Given the description of an element on the screen output the (x, y) to click on. 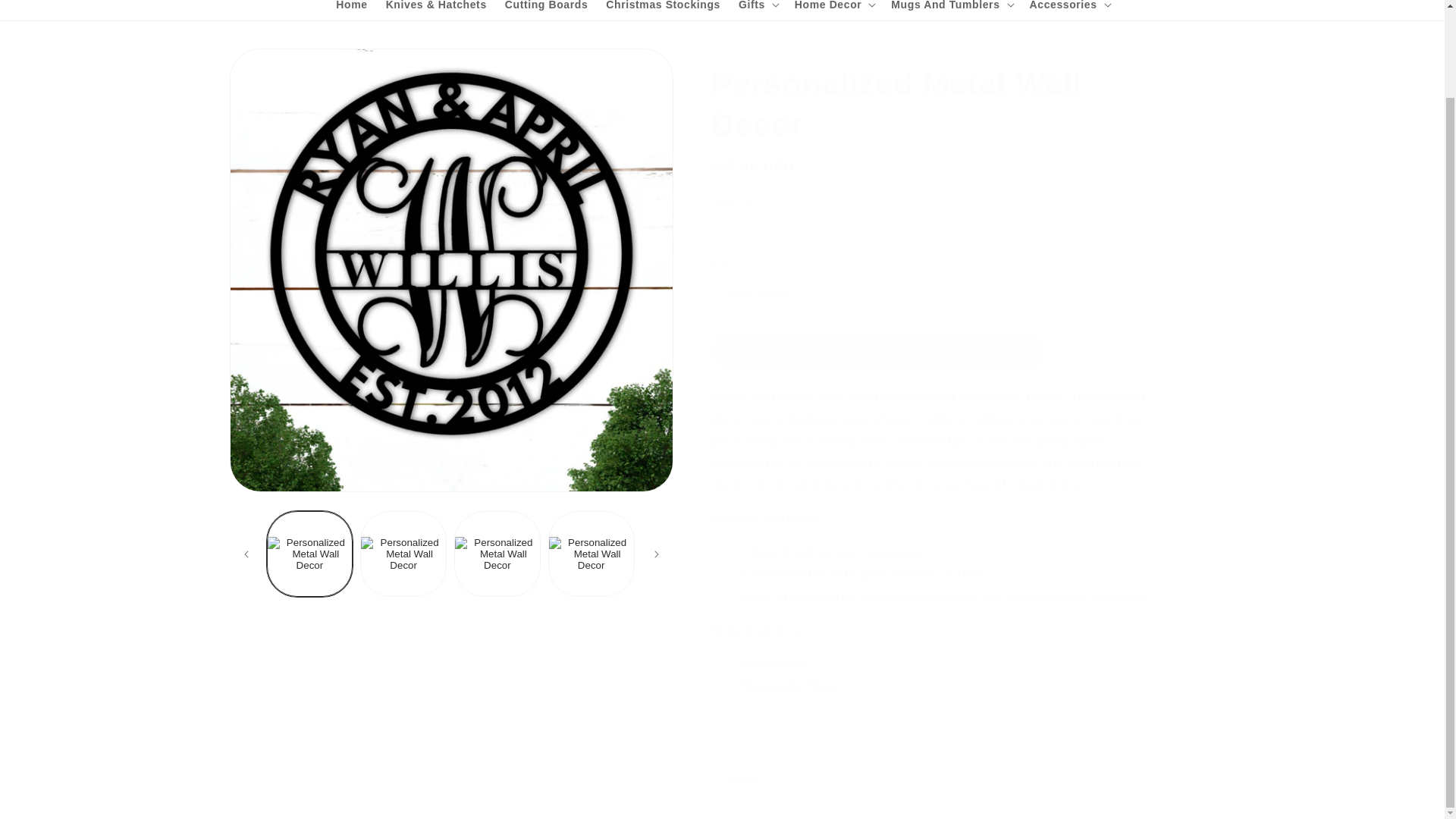
Christmas Stockings (662, 10)
Cutting Boards (546, 10)
Home (350, 10)
1 (764, 229)
